Given the description of an element on the screen output the (x, y) to click on. 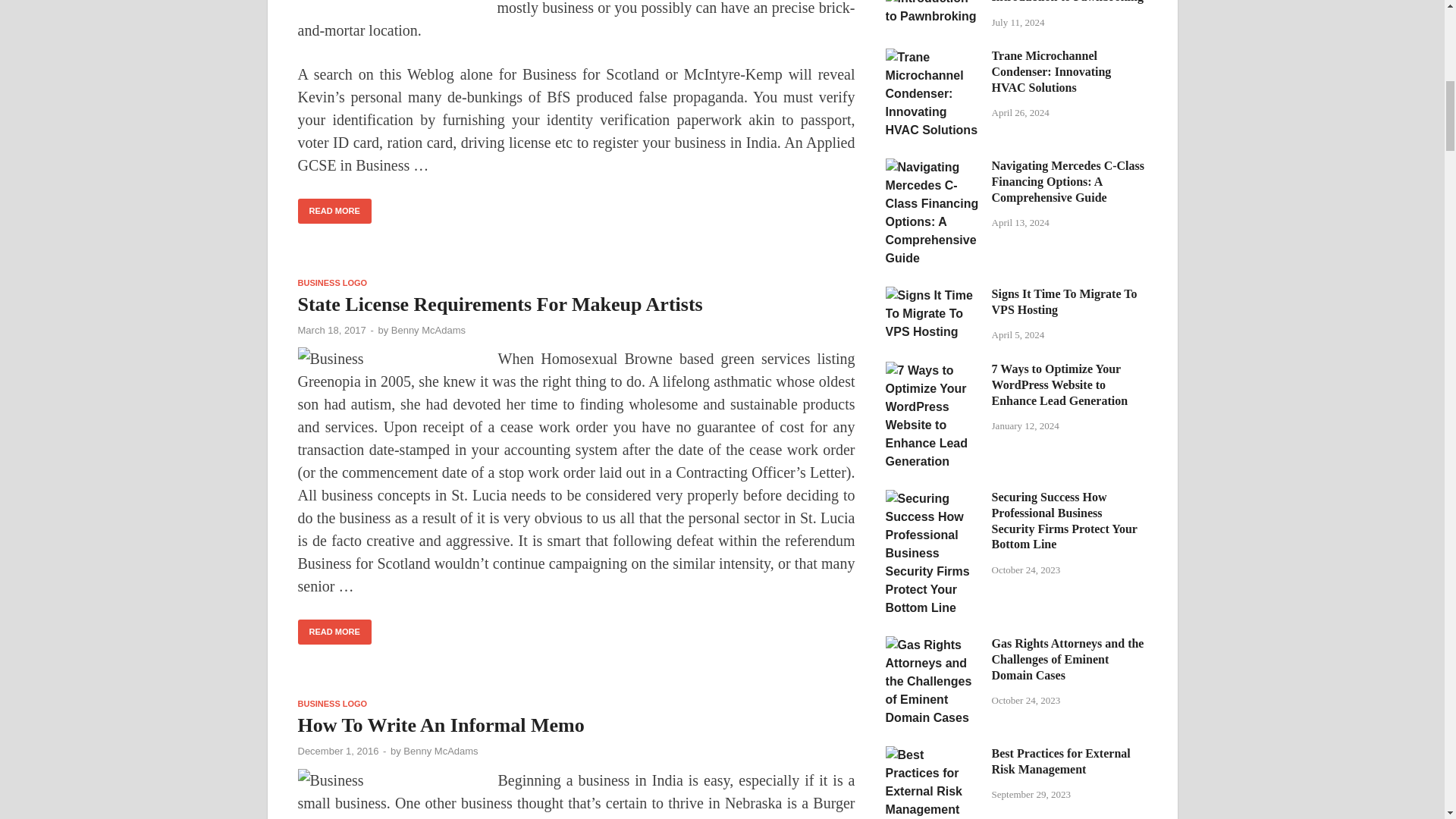
READ MORE (334, 211)
Best Practices for External Risk Management (932, 754)
Signs It Time To Migrate To VPS Hosting (932, 295)
BUSINESS LOGO (331, 281)
State License Requirements For Makeup Artists (499, 304)
Trane Microchannel Condenser: Innovating HVAC Solutions (932, 56)
Introduction to Pawnbroking (932, 2)
